Given the description of an element on the screen output the (x, y) to click on. 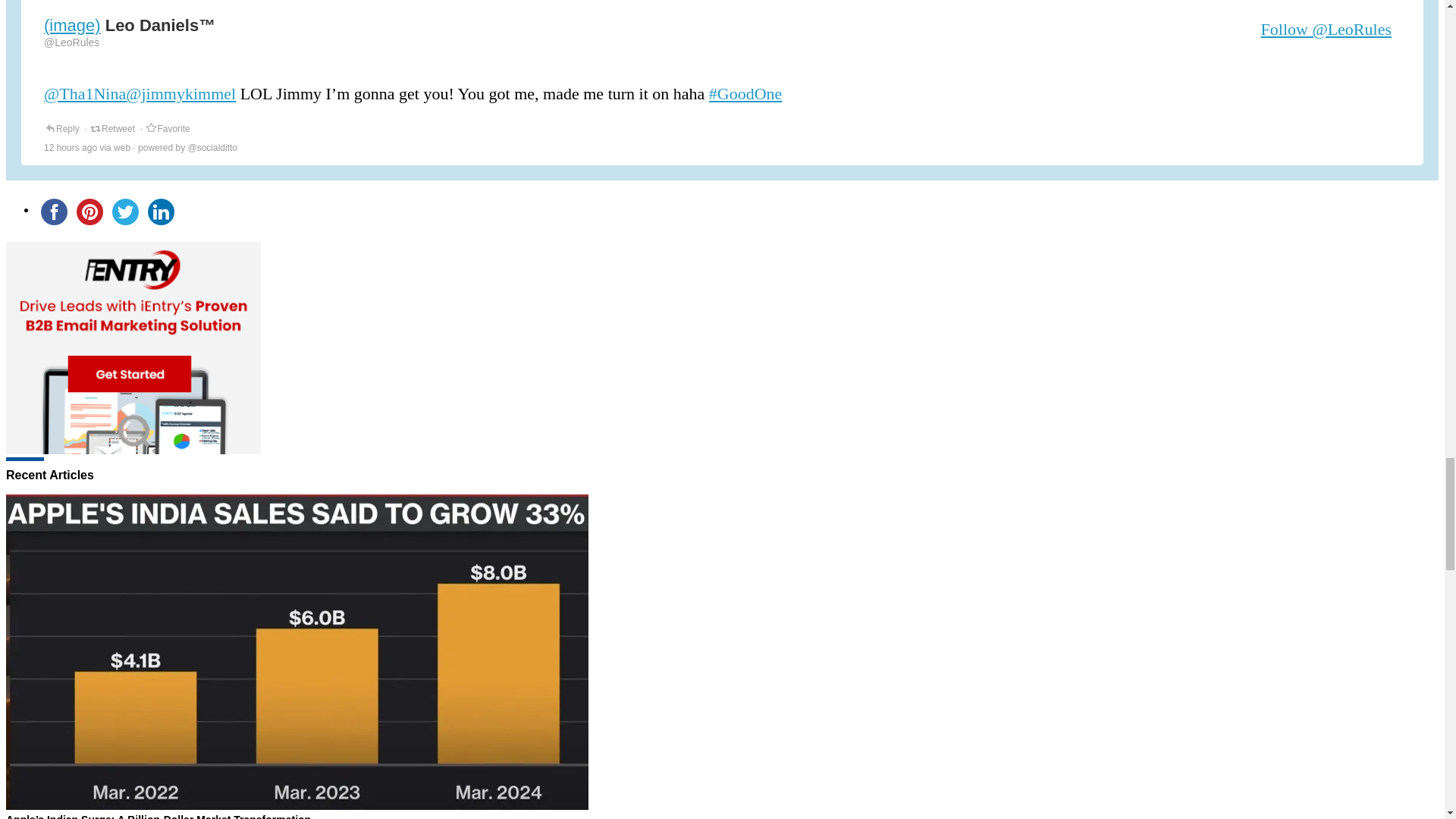
facebook (53, 212)
